Given the description of an element on the screen output the (x, y) to click on. 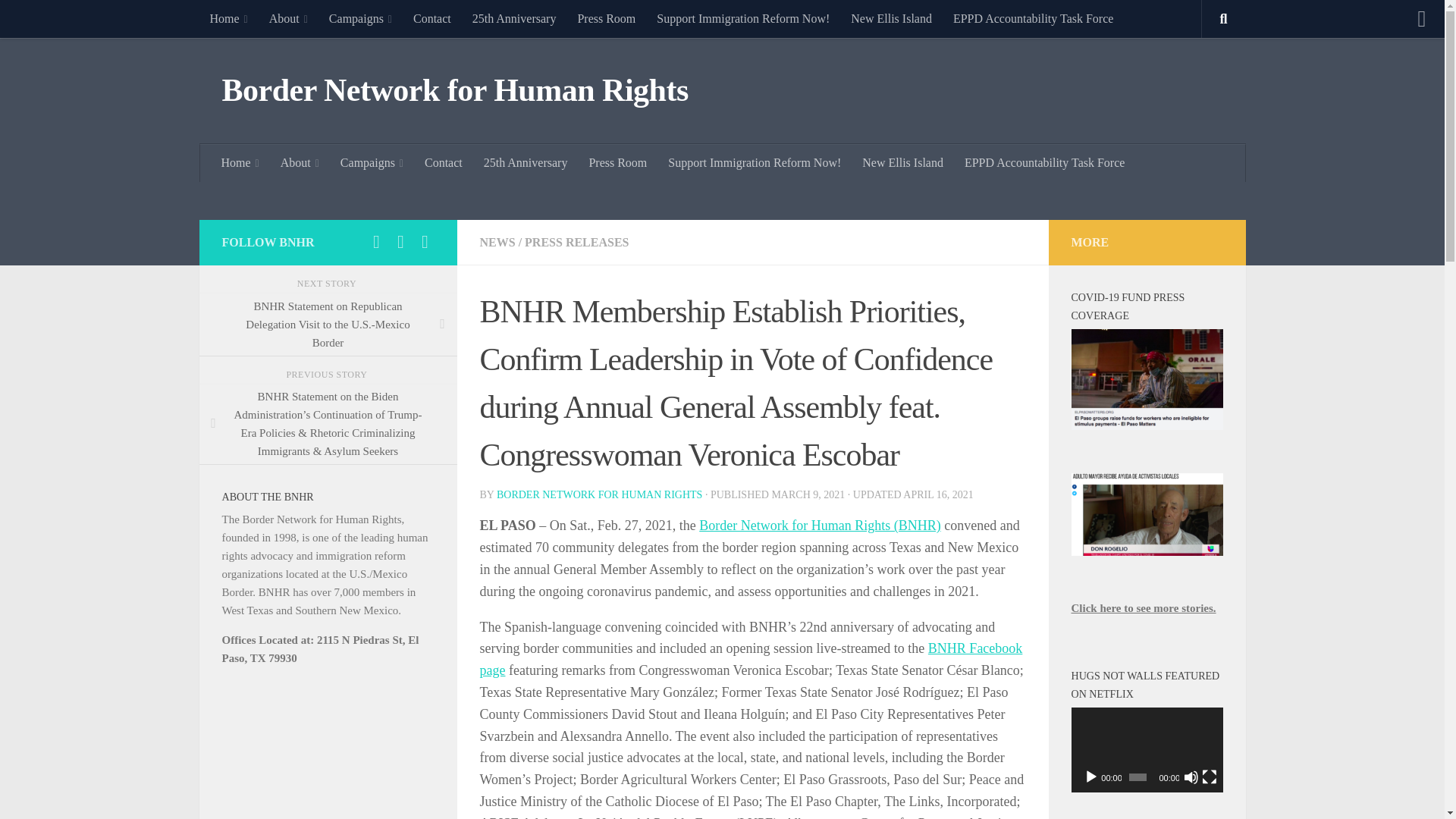
About (288, 18)
Home (227, 18)
Follow us on Instagram (423, 241)
Campaigns (360, 18)
Facebook (375, 241)
Posts by Border Network for Human Rights (598, 494)
Mute (1190, 776)
Play (1090, 776)
Follow us on Twitter (400, 241)
Skip to content (59, 20)
